Given the description of an element on the screen output the (x, y) to click on. 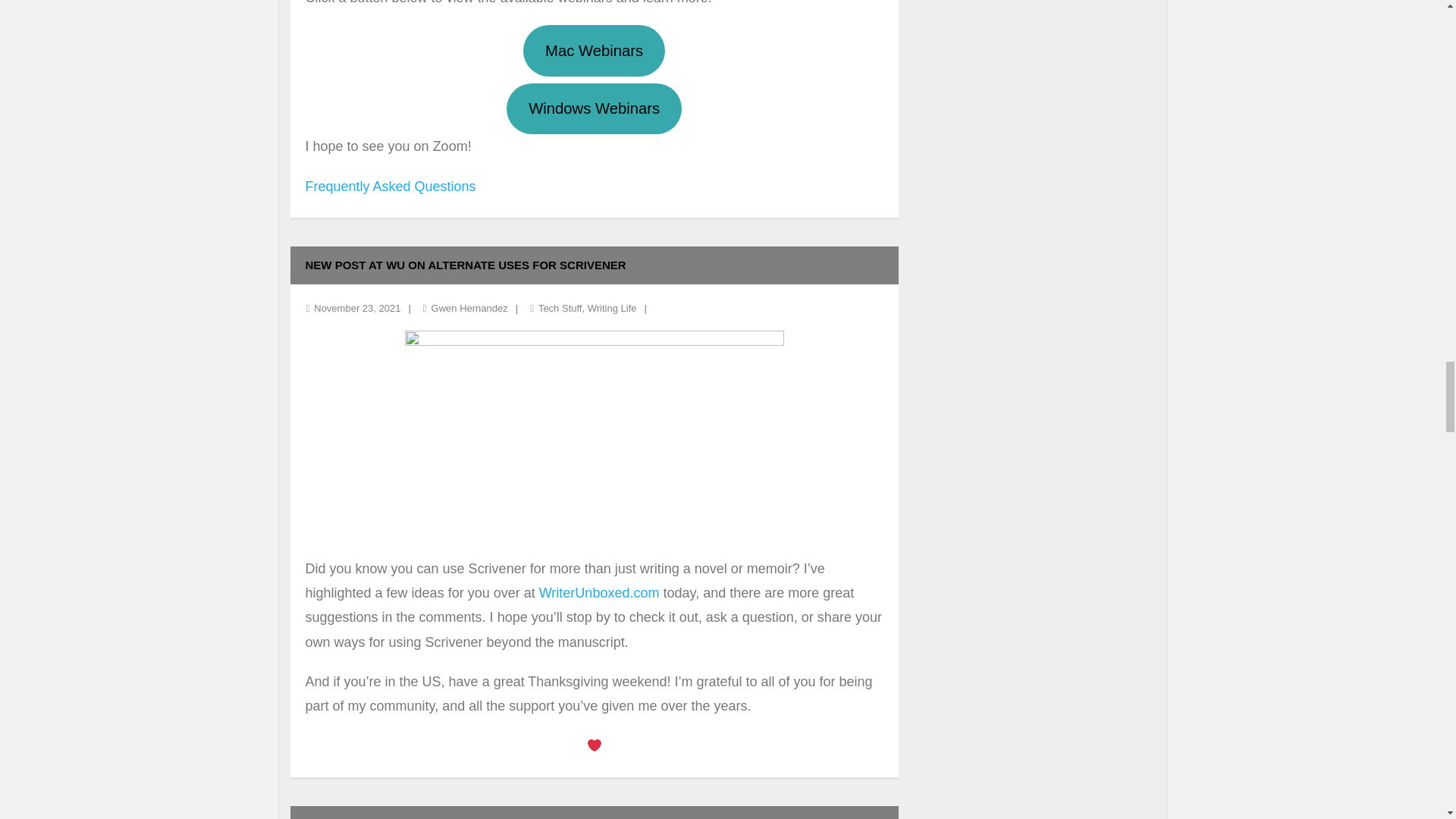
Permalink to New post at WU on Alternate Uses for Scrivener (465, 264)
New post at WU on Alternate Uses for Scrivener (357, 307)
View all posts by Gwen Hernandez (469, 307)
